Given the description of an element on the screen output the (x, y) to click on. 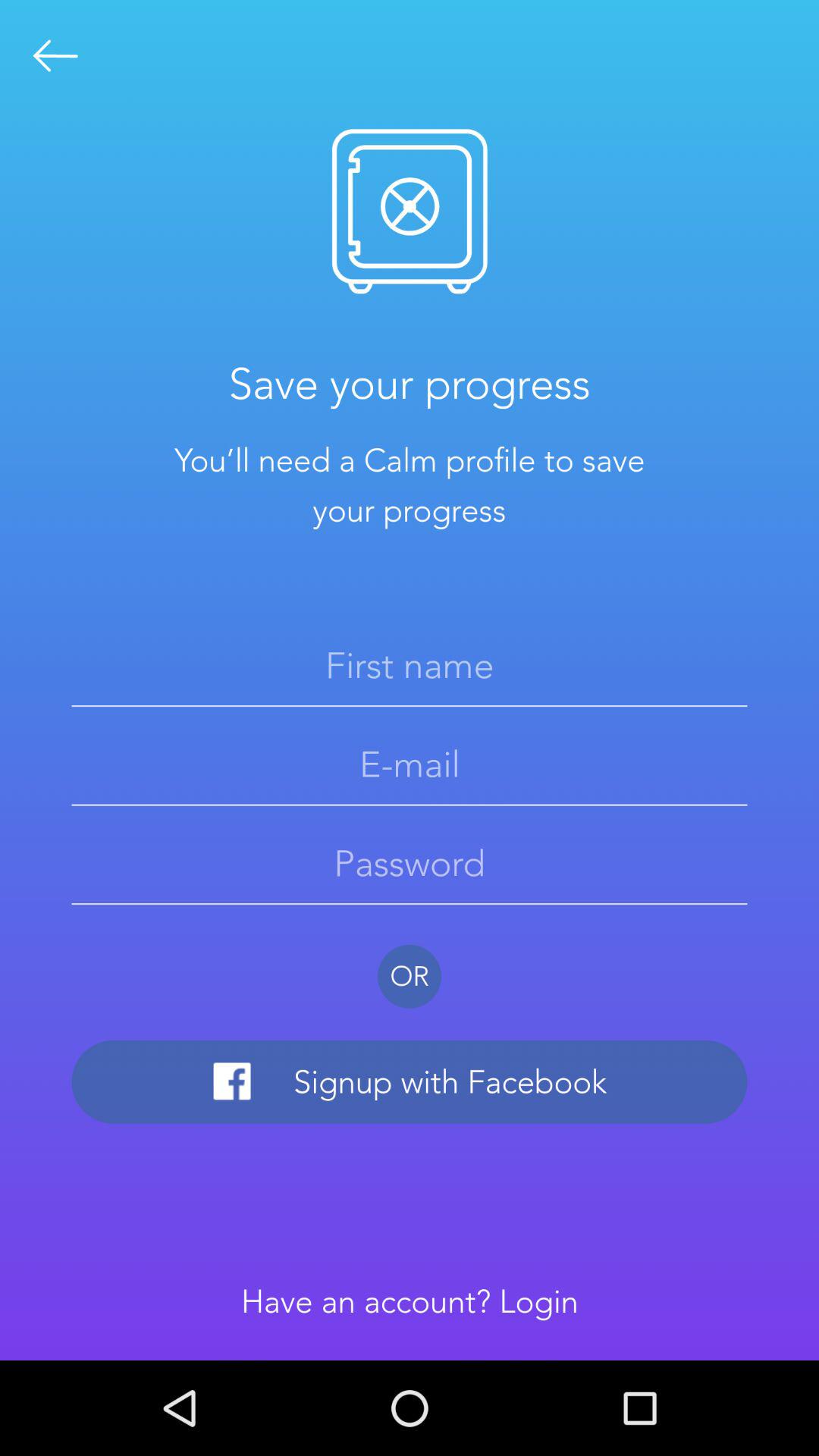
launch item above the or (409, 862)
